Given the description of an element on the screen output the (x, y) to click on. 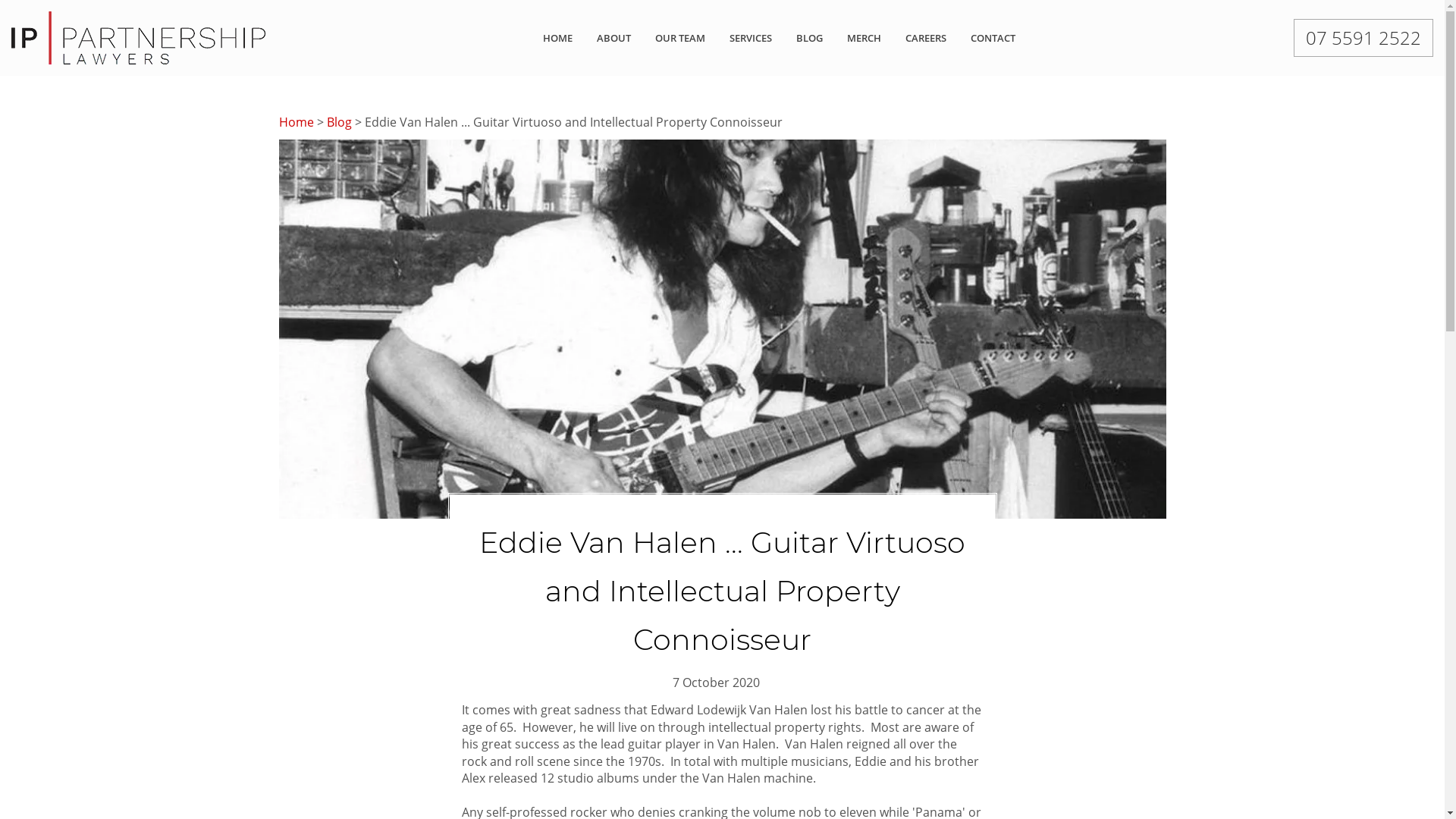
BLOG Element type: text (809, 37)
CAREERS Element type: text (925, 37)
CONTACT Element type: text (992, 37)
Home Element type: text (296, 121)
Blog Element type: text (338, 121)
SERVICES Element type: text (750, 37)
ABOUT Element type: text (613, 37)
OUR TEAM Element type: text (680, 37)
IP partnership Element type: hover (138, 36)
HOME Element type: text (557, 37)
07 5591 2522 Element type: text (1363, 37)
MERCH Element type: text (863, 37)
